Given the description of an element on the screen output the (x, y) to click on. 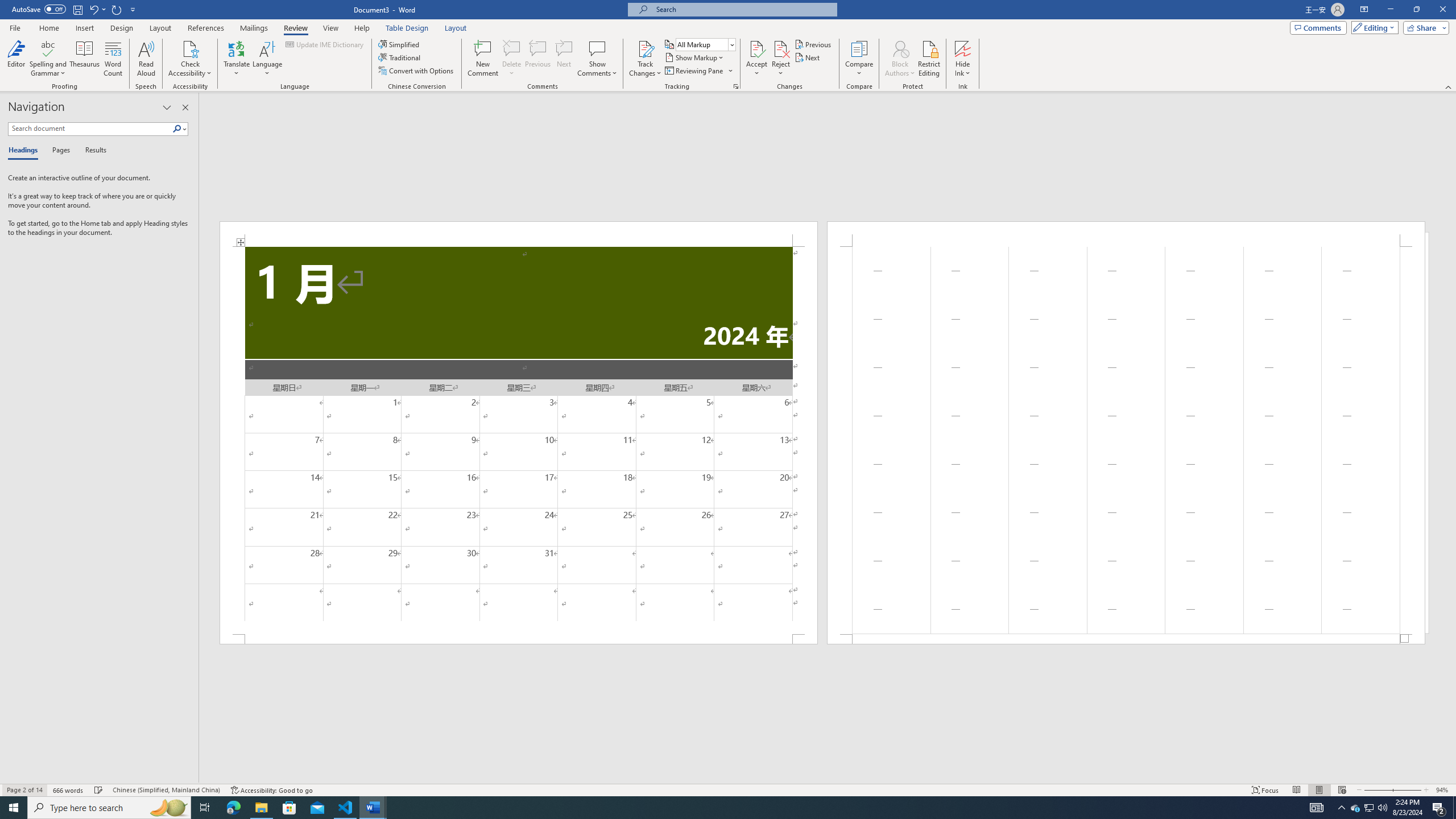
Word Count (113, 58)
Hide Ink (962, 48)
Show Comments (597, 58)
